Given the description of an element on the screen output the (x, y) to click on. 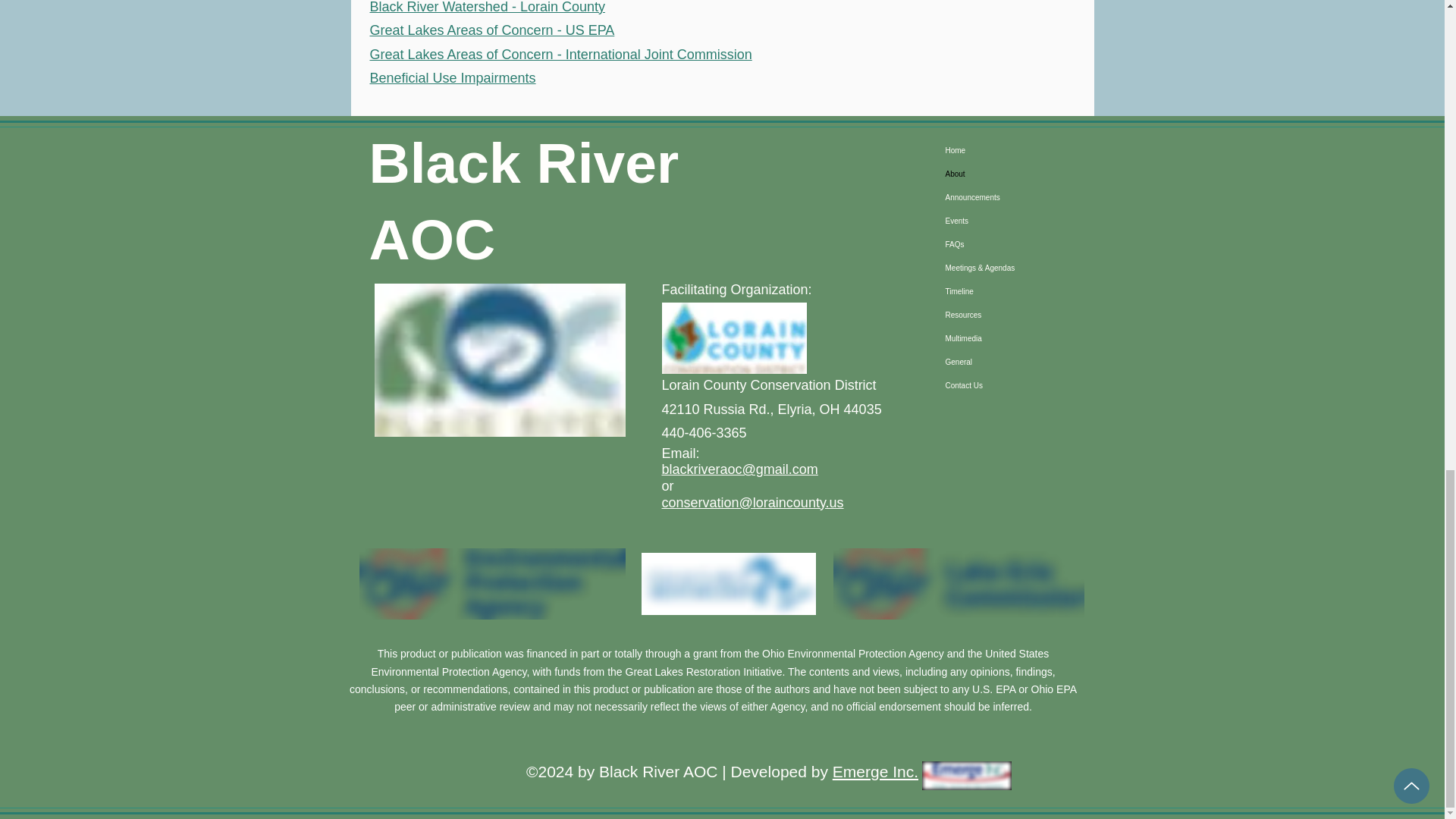
Great Lakes Areas of Concern - US EPA (491, 29)
Multimedia (1016, 338)
FAQs (1016, 244)
Events (1016, 220)
Home (1016, 150)
Contact Us (1016, 385)
About (1016, 173)
General (1016, 361)
Beneficial Use Impairments (452, 77)
Timeline (1016, 291)
Announcements (1016, 197)
Black River Watershed - Lorain County (487, 7)
Resources (1016, 314)
440-406-3365 (703, 432)
